Given the description of an element on the screen output the (x, y) to click on. 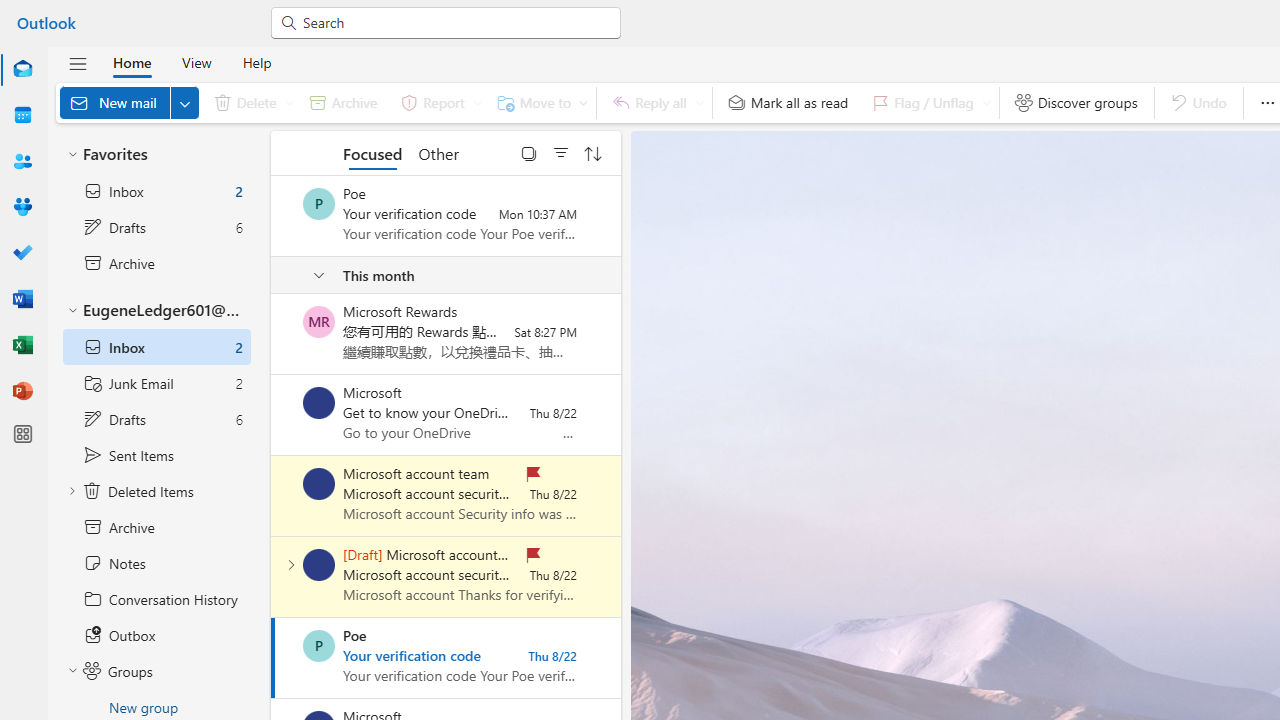
Delete (250, 102)
Calendar (22, 115)
Excel (22, 345)
Report (437, 102)
Expand to see more New options (184, 102)
Groups (22, 206)
Undo (1198, 102)
Discover groups (1076, 102)
PowerPoint (22, 391)
Other (438, 152)
